Given the description of an element on the screen output the (x, y) to click on. 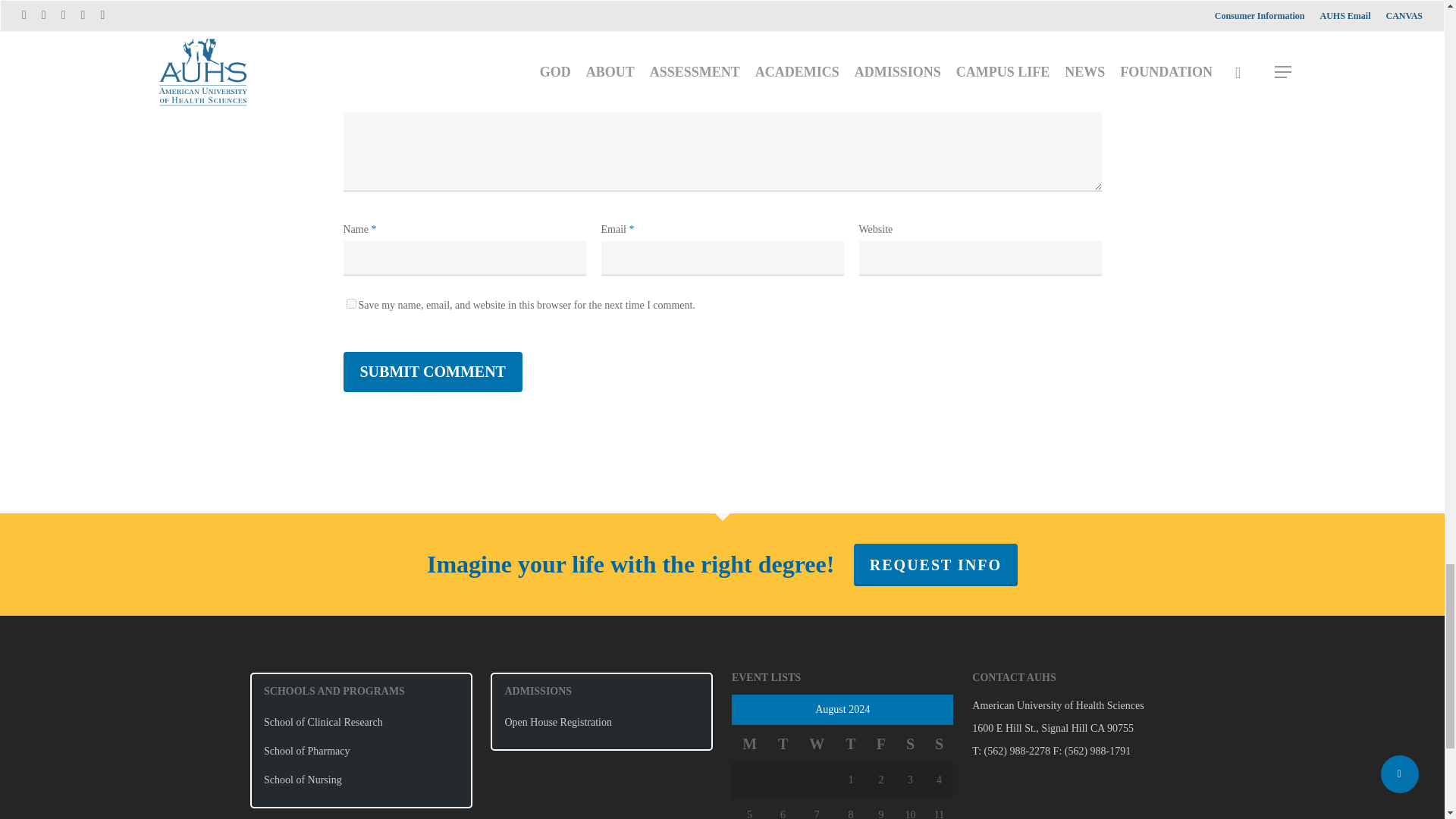
Wednesday (816, 743)
yes (350, 303)
Submit Comment (431, 372)
Submit Comment (431, 372)
Monday (749, 743)
School of Clinical Research (360, 722)
REQUEST INFO (935, 564)
